Given the description of an element on the screen output the (x, y) to click on. 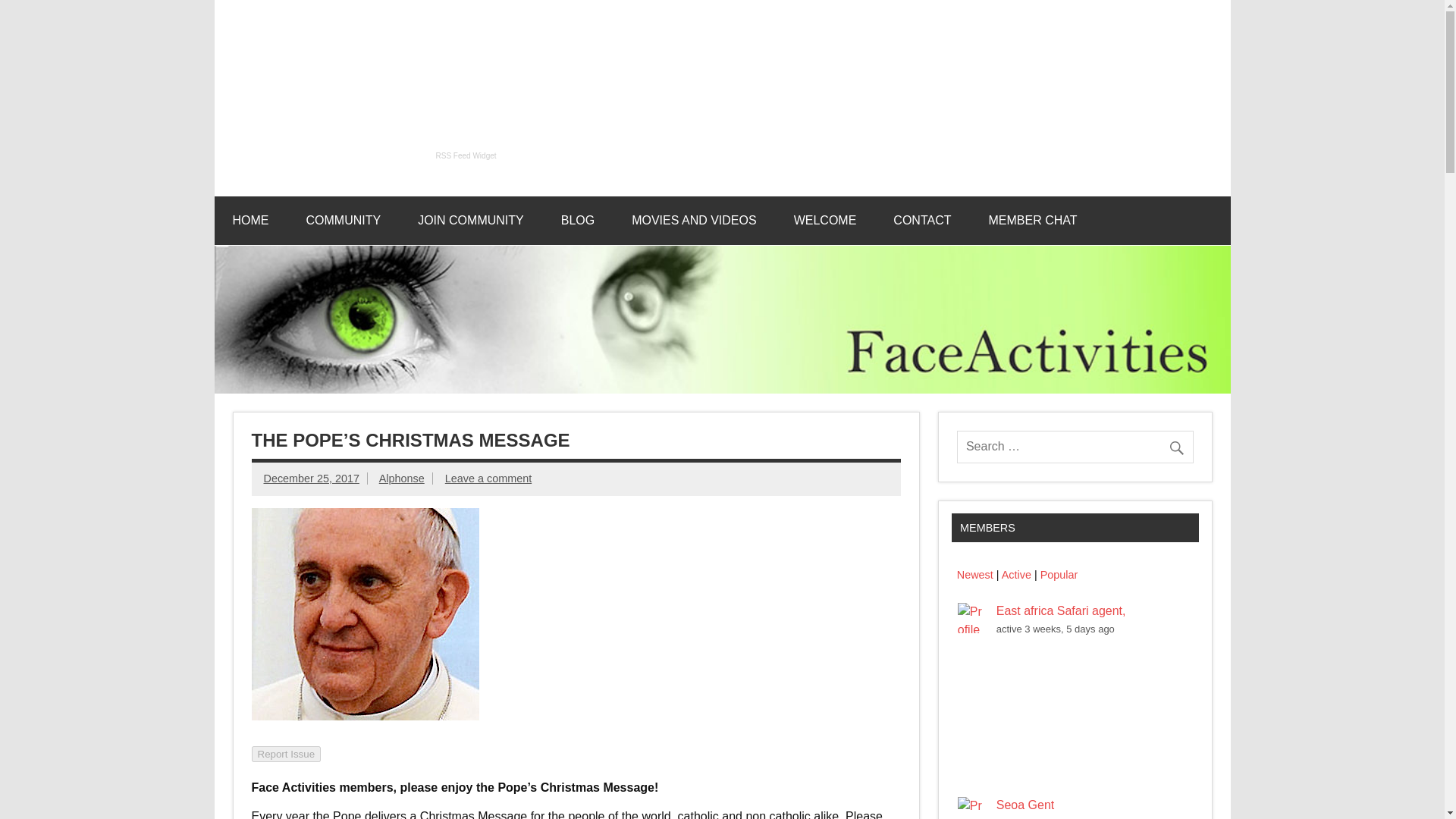
View all posts by Alphonse (401, 478)
East africa Safari agent, (1060, 610)
Active (1015, 574)
BLOG (577, 220)
December 25, 2017 (311, 478)
JOIN COMMUNITY (469, 220)
MEMBER CHAT (1031, 220)
HOME (250, 220)
MOVIES AND VIDEOS (693, 220)
Leave a comment (488, 478)
